Given the description of an element on the screen output the (x, y) to click on. 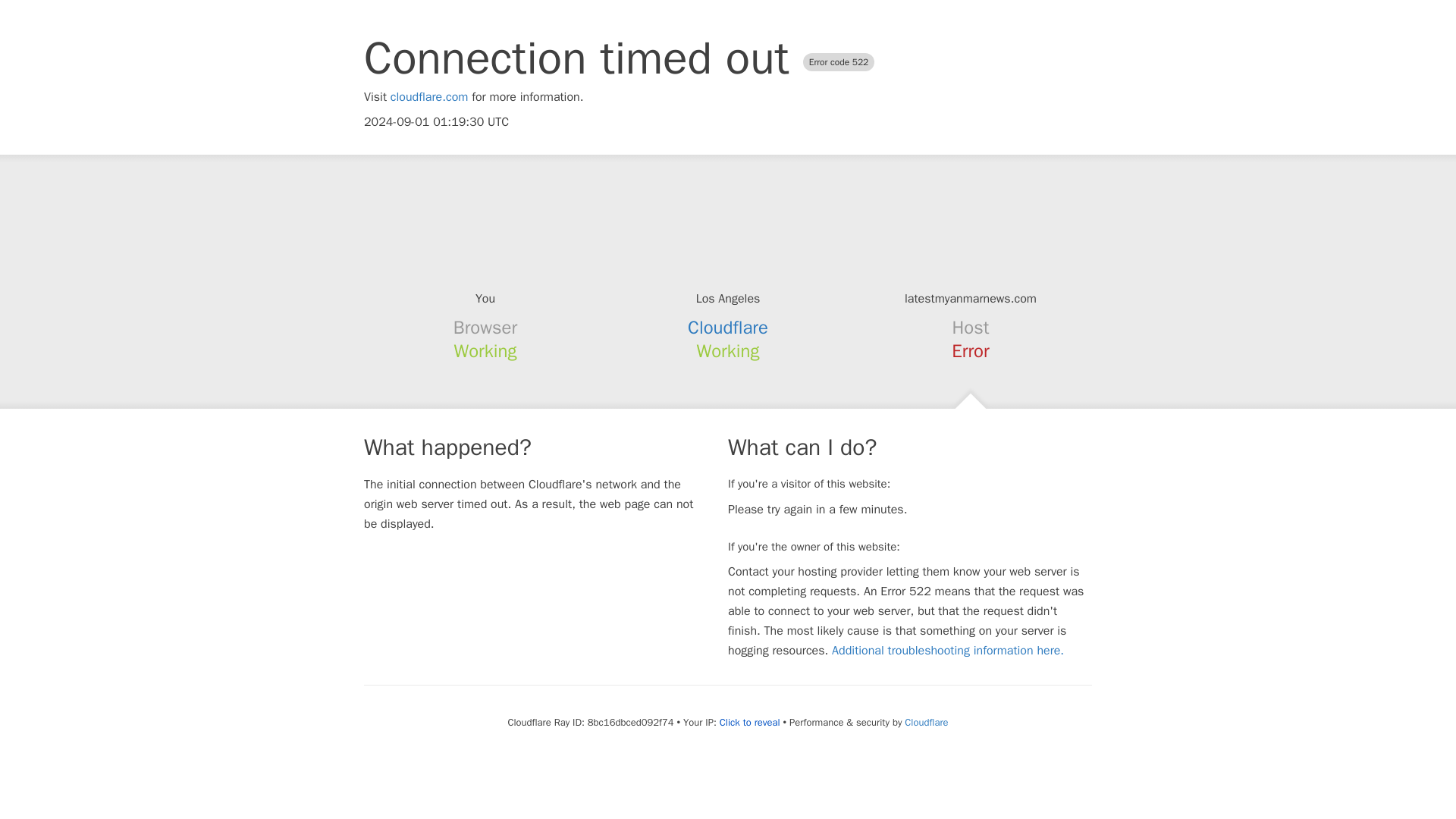
cloudflare.com (429, 96)
Cloudflare (727, 327)
Click to reveal (749, 722)
Additional troubleshooting information here. (947, 650)
Cloudflare (925, 721)
